Given the description of an element on the screen output the (x, y) to click on. 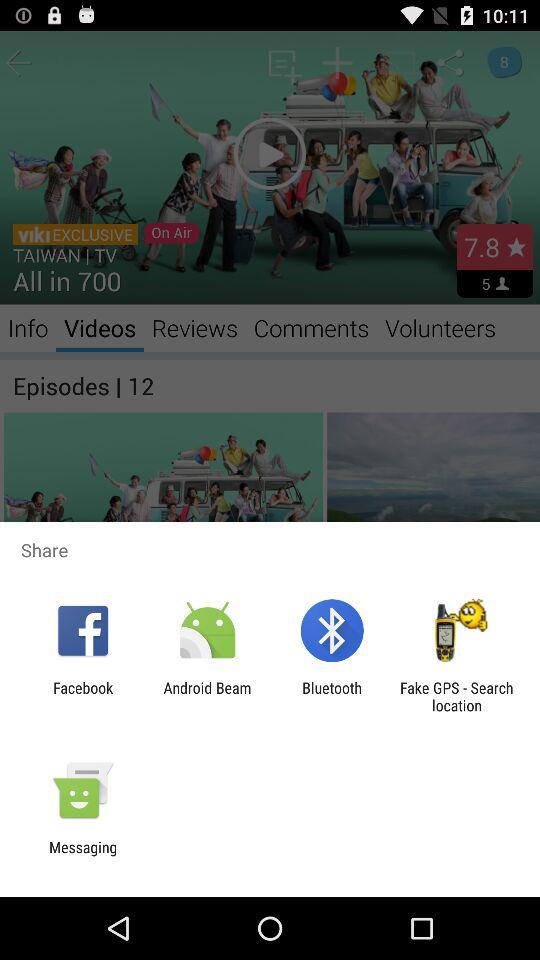
flip to the bluetooth app (331, 696)
